Given the description of an element on the screen output the (x, y) to click on. 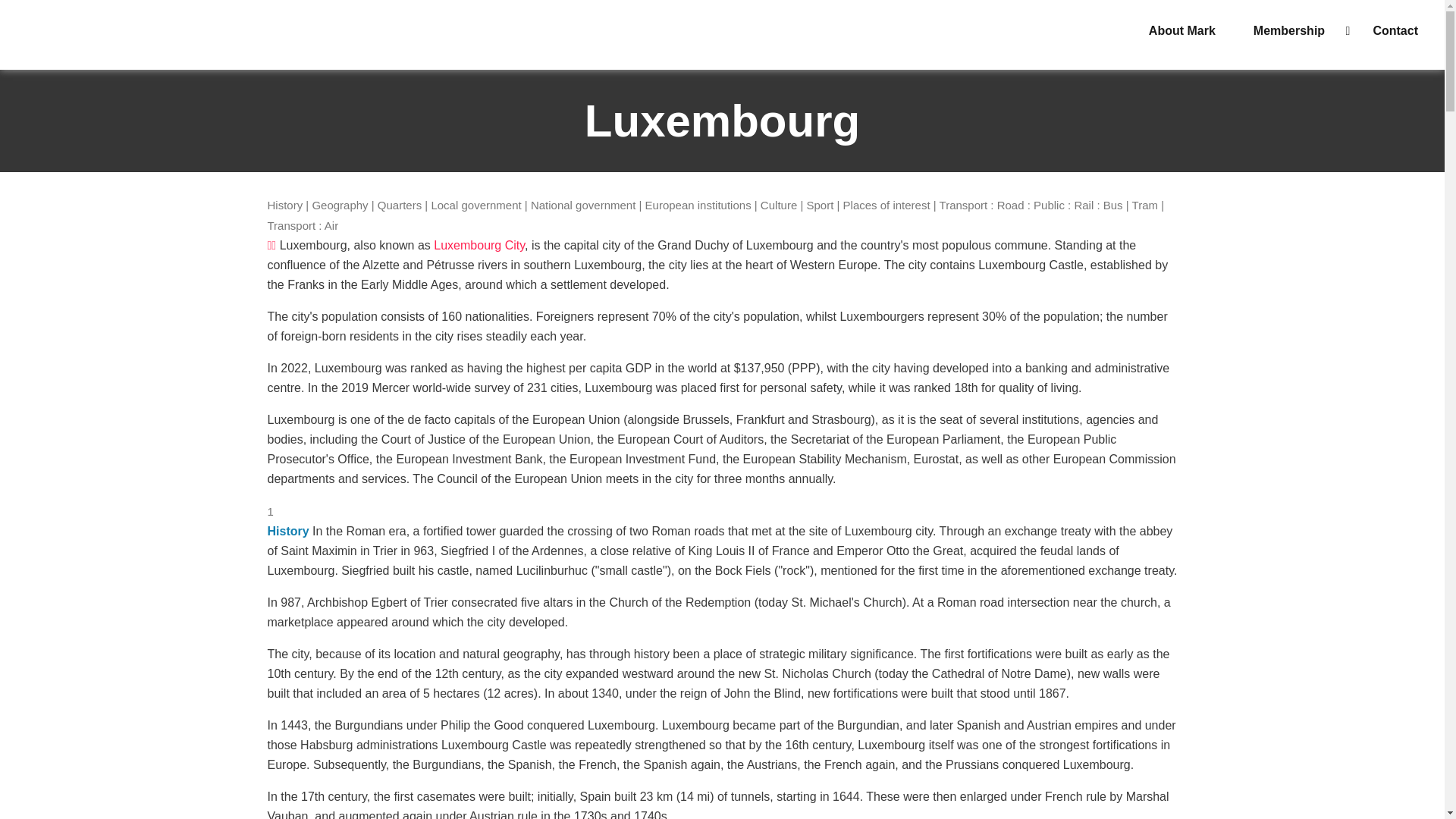
Mark-Horner.com (30, 33)
Luxembourg City (478, 245)
Contact (1395, 31)
About Mark (1181, 31)
About Mark (1181, 31)
Membership (1294, 31)
Contact (1395, 31)
Membership    (1294, 31)
